Given the description of an element on the screen output the (x, y) to click on. 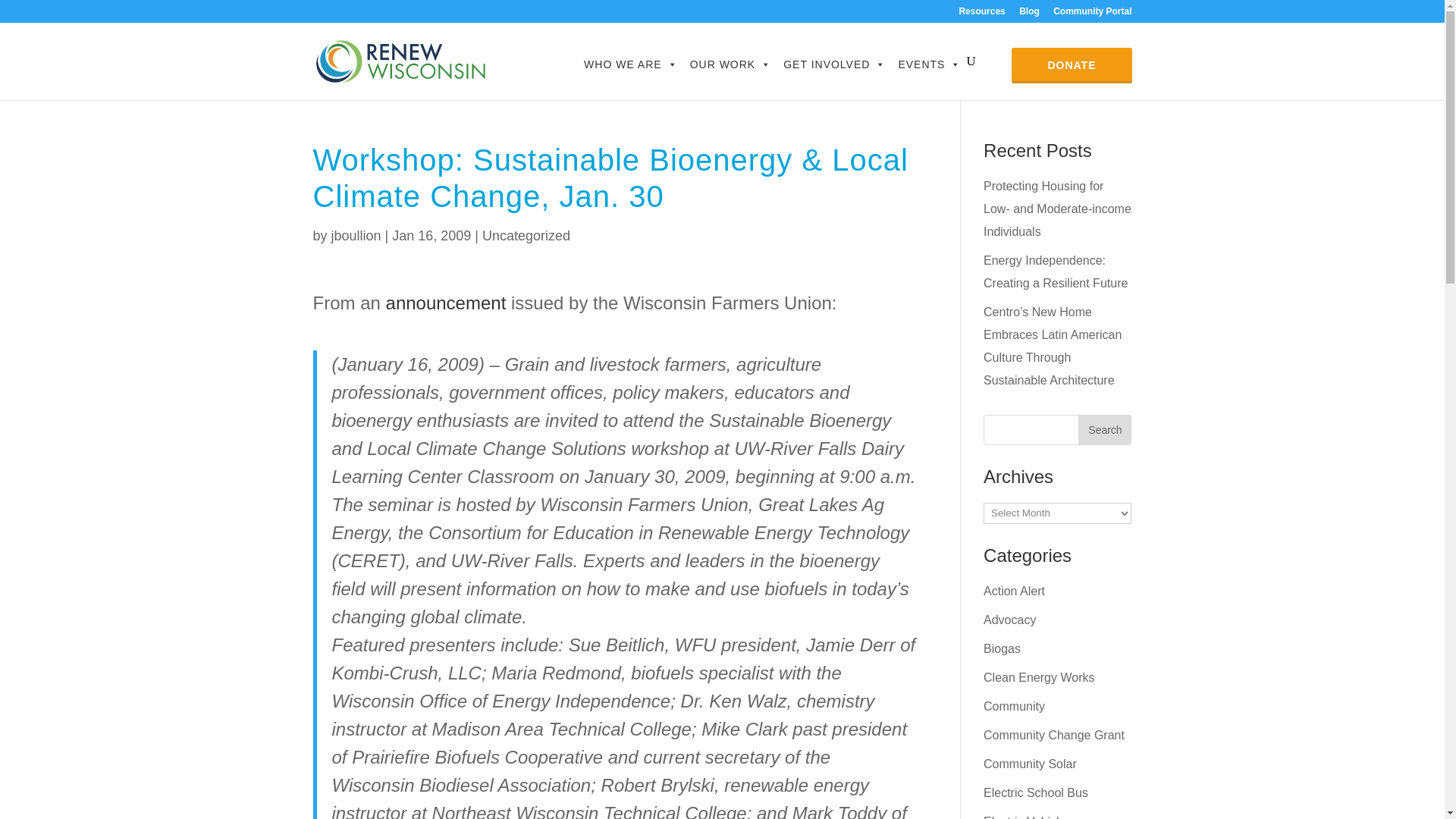
OUR WORK (730, 64)
Uncategorized (525, 235)
EVENTS (928, 64)
Protecting Housing for Low- and Moderate-income Individuals (1057, 208)
jboullion (356, 235)
Blog (1029, 14)
Search (1104, 429)
WHO WE ARE (631, 64)
DONATE (1071, 64)
Community Portal (1091, 14)
GET INVOLVED (834, 64)
Resources (981, 14)
announcement (445, 302)
Posts by jboullion (356, 235)
